Given the description of an element on the screen output the (x, y) to click on. 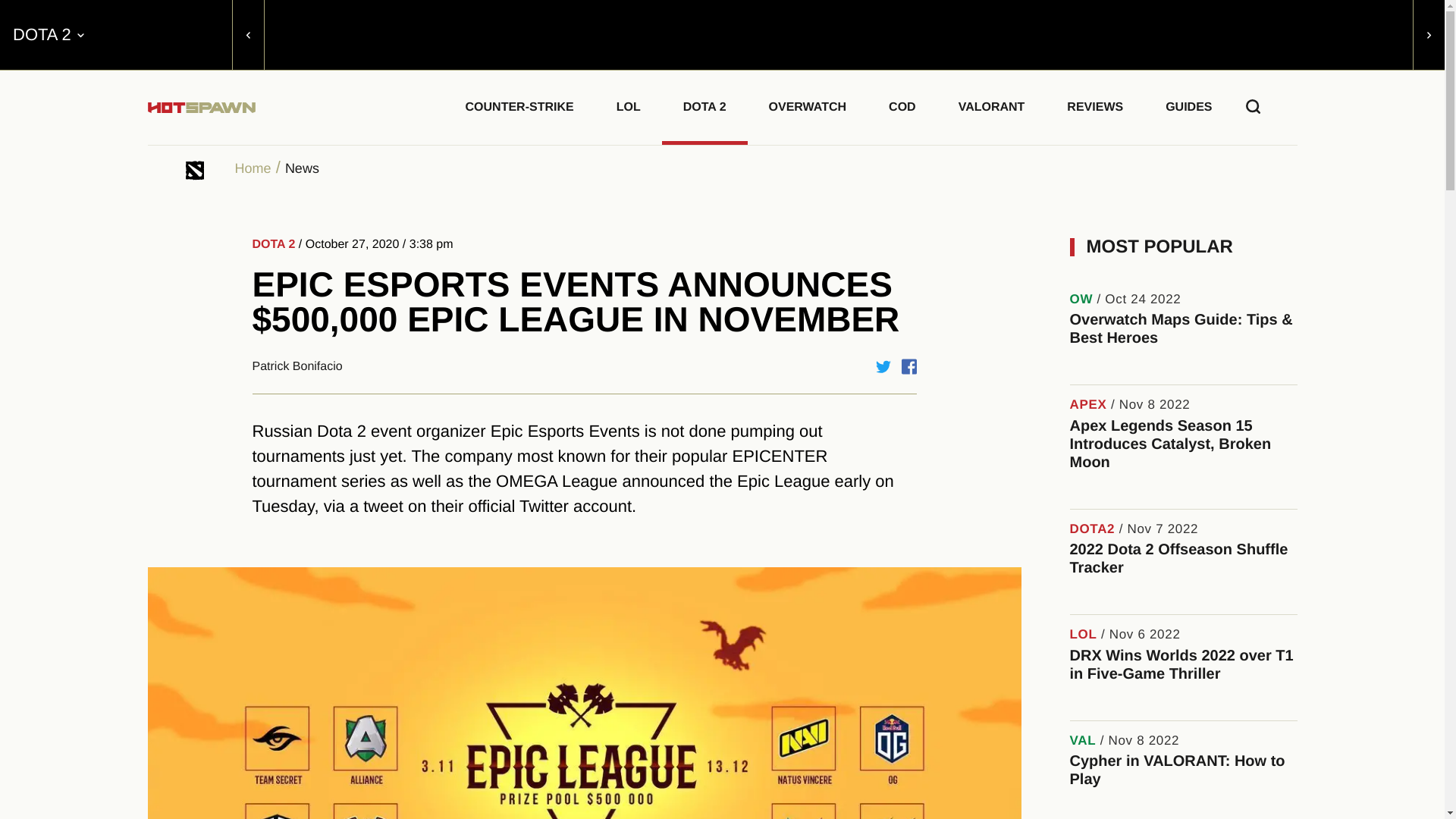
LOL (628, 105)
COUNTER-STRIKE (519, 105)
